Given the description of an element on the screen output the (x, y) to click on. 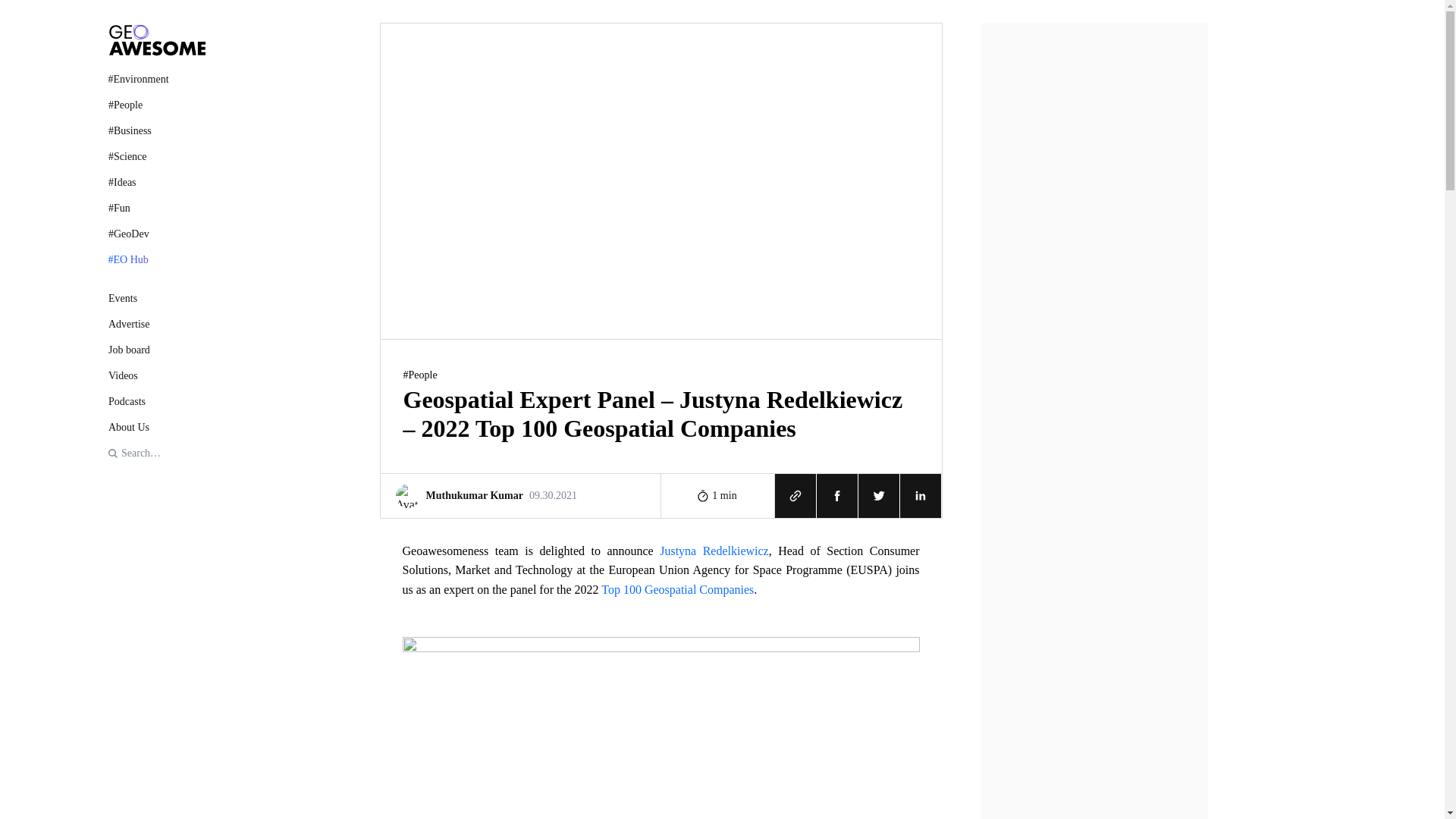
Job board (156, 349)
Events (520, 494)
1 min (156, 298)
About Us (717, 494)
Advertise (156, 426)
Videos (156, 324)
Top 100 Geospatial Companies (156, 375)
Justyna Redelkiewicz (677, 589)
Podcasts (713, 550)
